Given the description of an element on the screen output the (x, y) to click on. 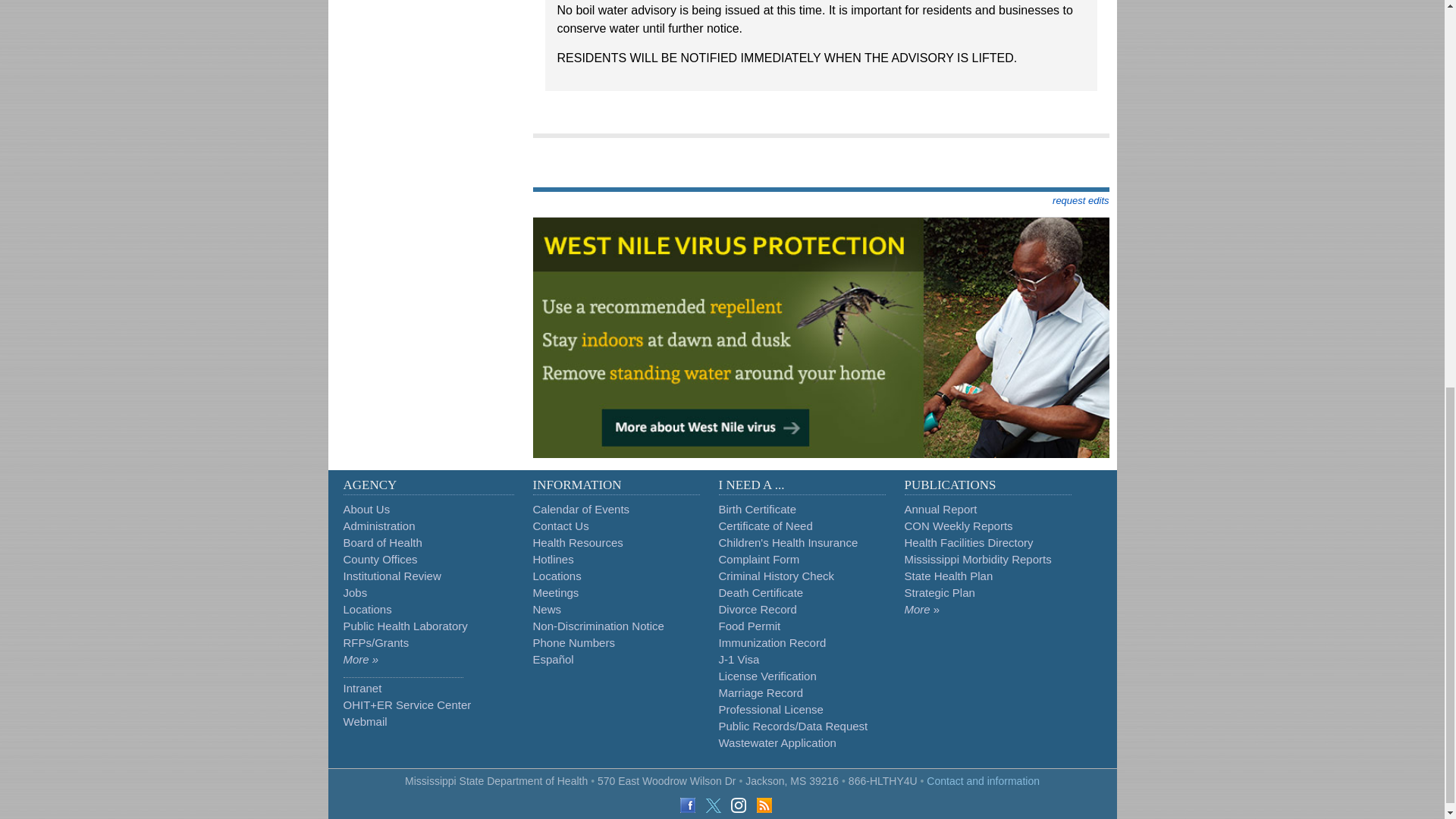
About Us (366, 508)
Board of Health (382, 542)
request edits (1080, 200)
Request an update or correction to this web page (1080, 200)
Administration (378, 525)
